Given the description of an element on the screen output the (x, y) to click on. 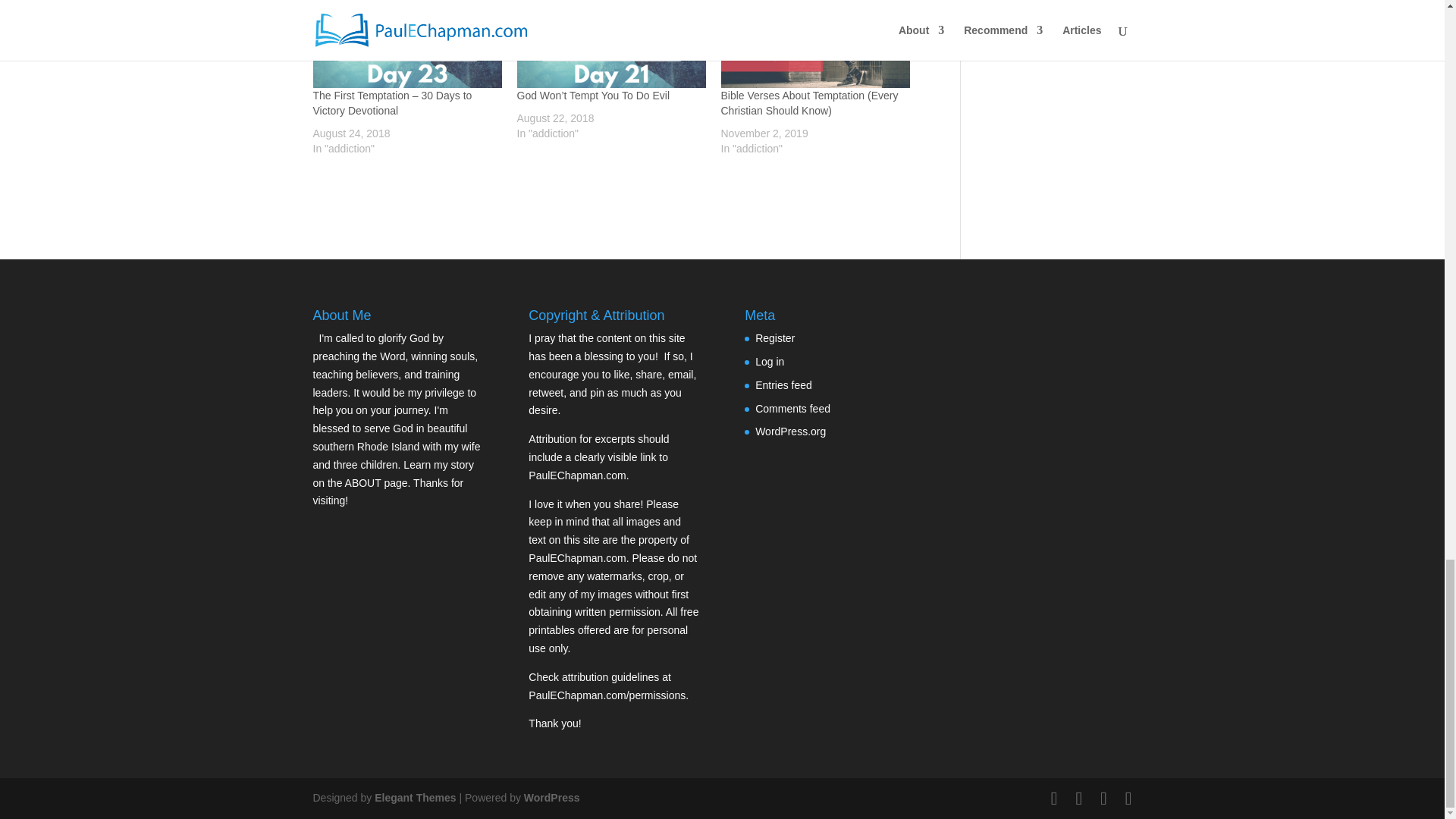
Entries feed (783, 385)
Log in (769, 361)
PaulEChapman.com (577, 475)
Register (774, 337)
Comments feed (792, 408)
